Given the description of an element on the screen output the (x, y) to click on. 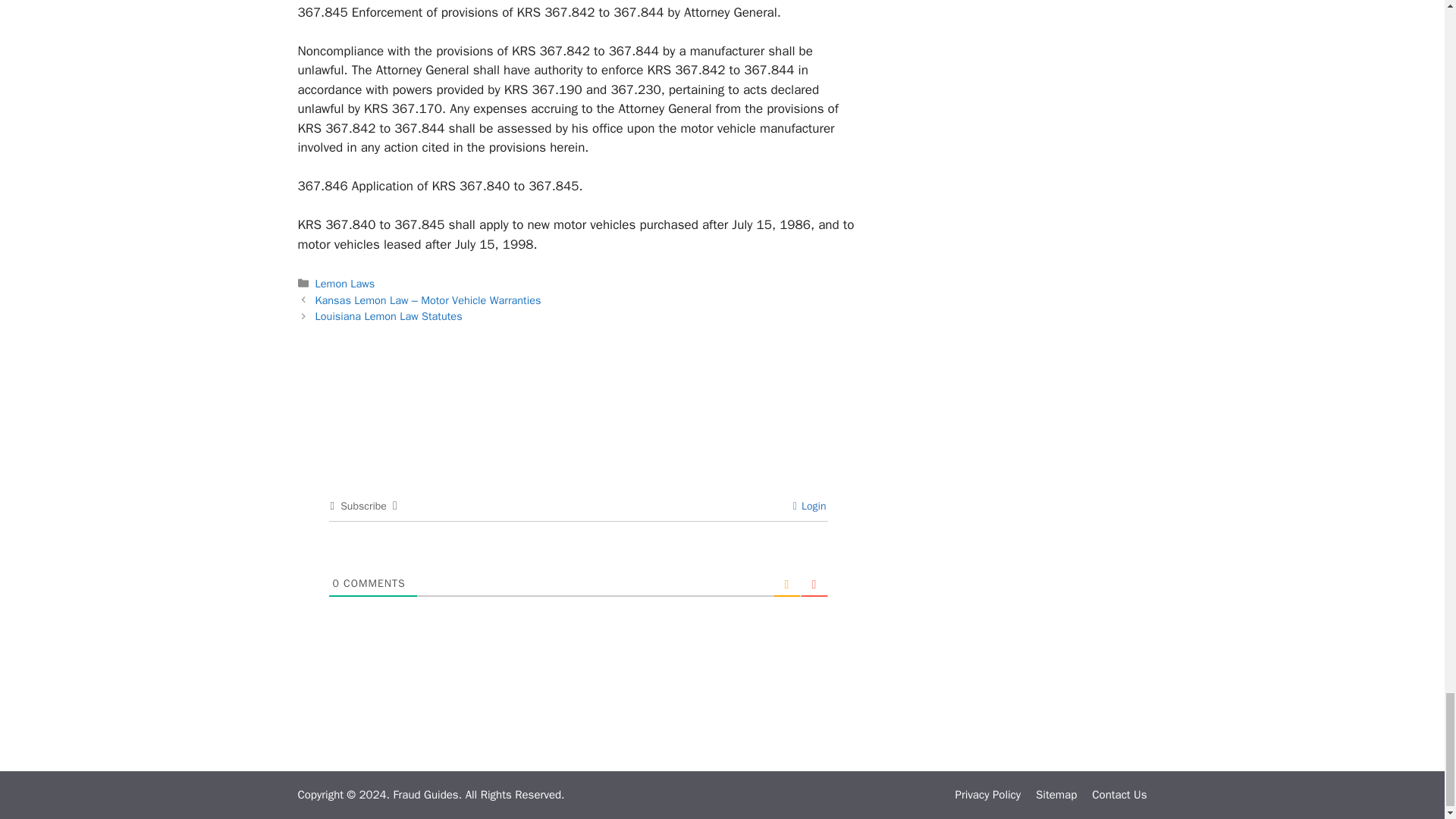
Louisiana Lemon Law Statutes (389, 315)
Lemon Laws (345, 283)
Login (810, 505)
